Given the description of an element on the screen output the (x, y) to click on. 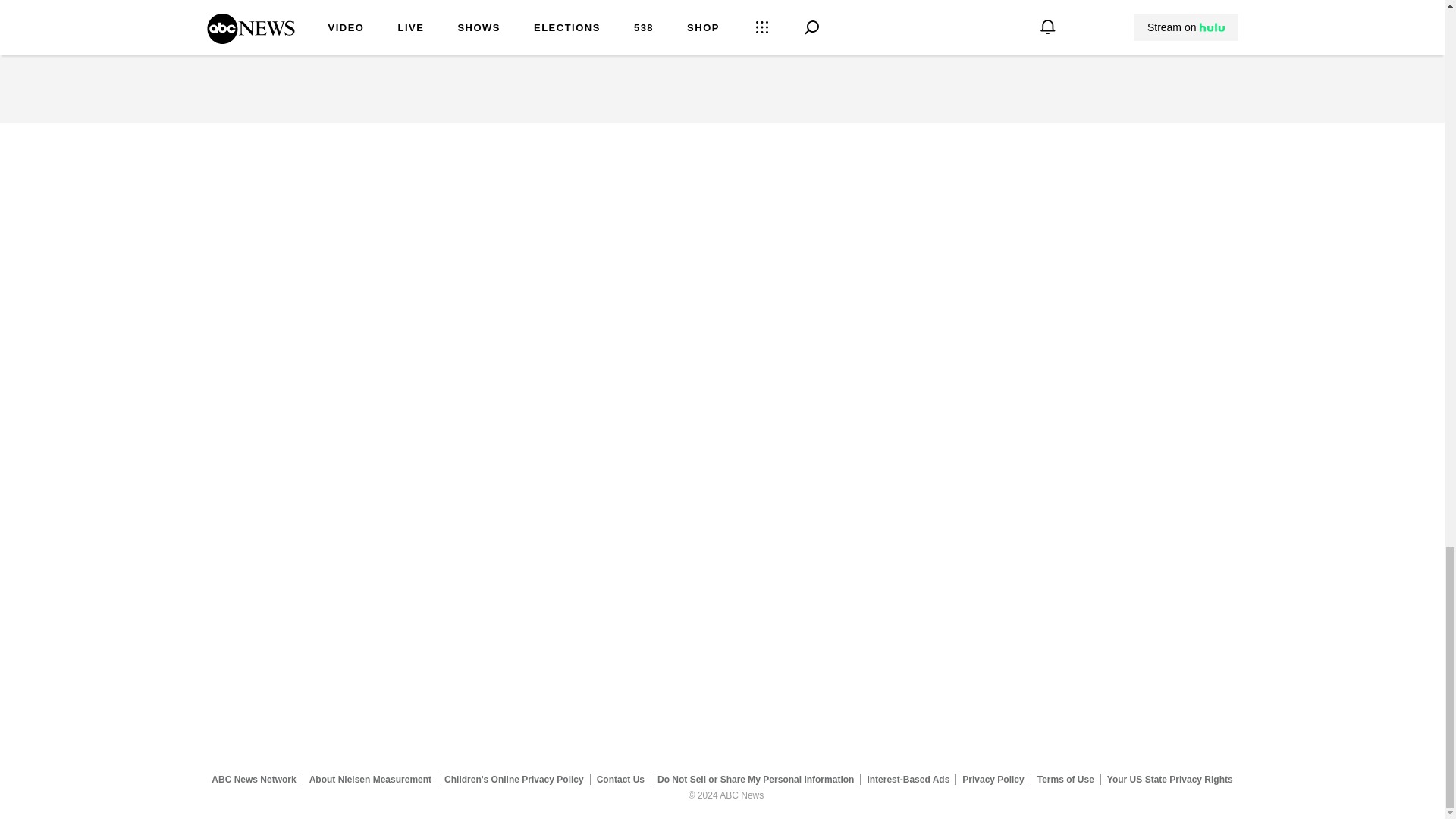
Your US State Privacy Rights (1169, 778)
Terms of Use (1065, 778)
ABC News Network (253, 778)
Do Not Sell or Share My Personal Information (755, 778)
Privacy Policy (993, 778)
Interest-Based Ads (908, 778)
About Nielsen Measurement (370, 778)
Children's Online Privacy Policy (514, 778)
Contact Us (620, 778)
